Given the description of an element on the screen output the (x, y) to click on. 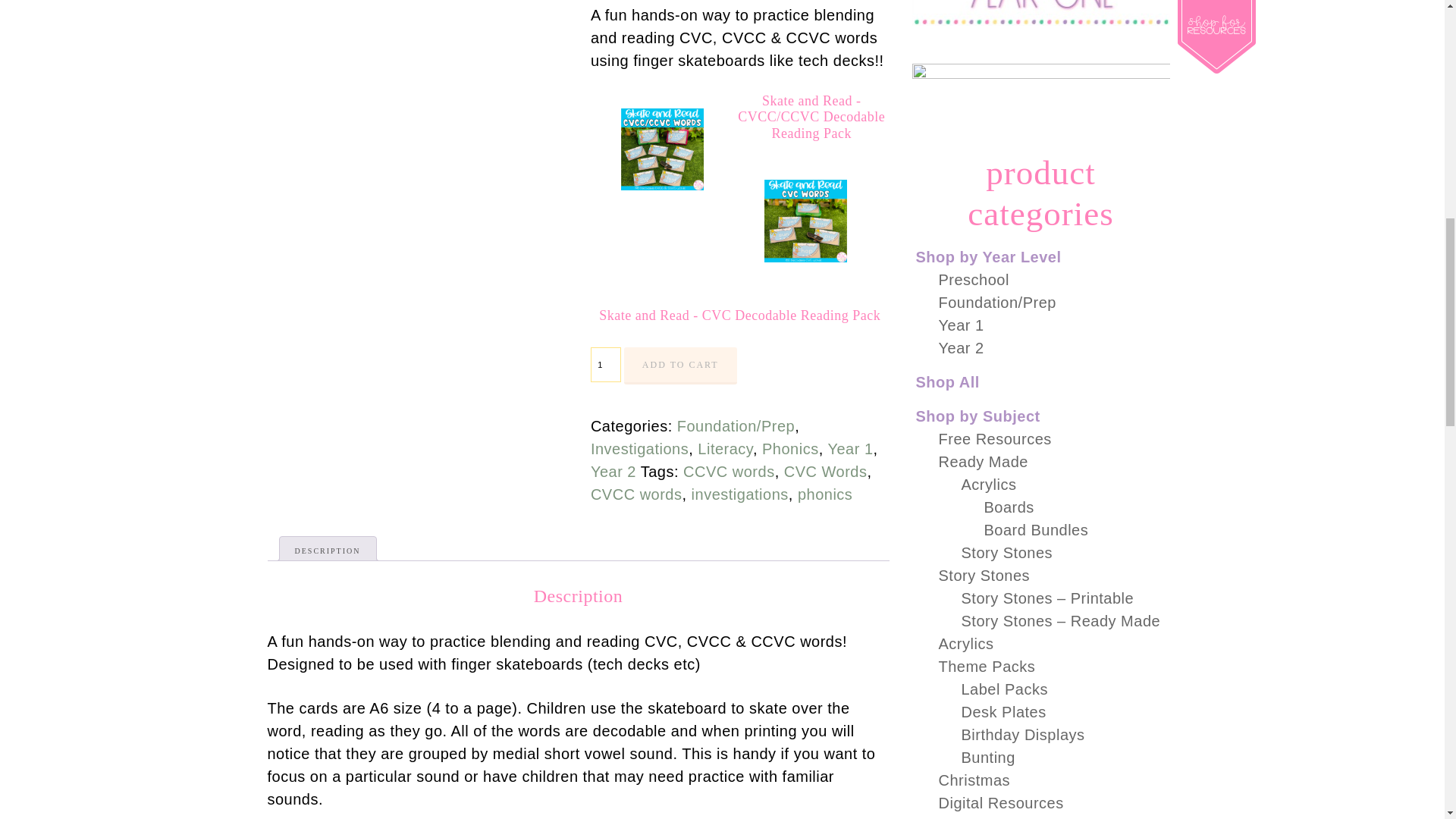
Literacy (724, 448)
Slide1 (805, 220)
Investigations (639, 448)
ADD TO CART (680, 365)
Slide1 (662, 148)
